Given the description of an element on the screen output the (x, y) to click on. 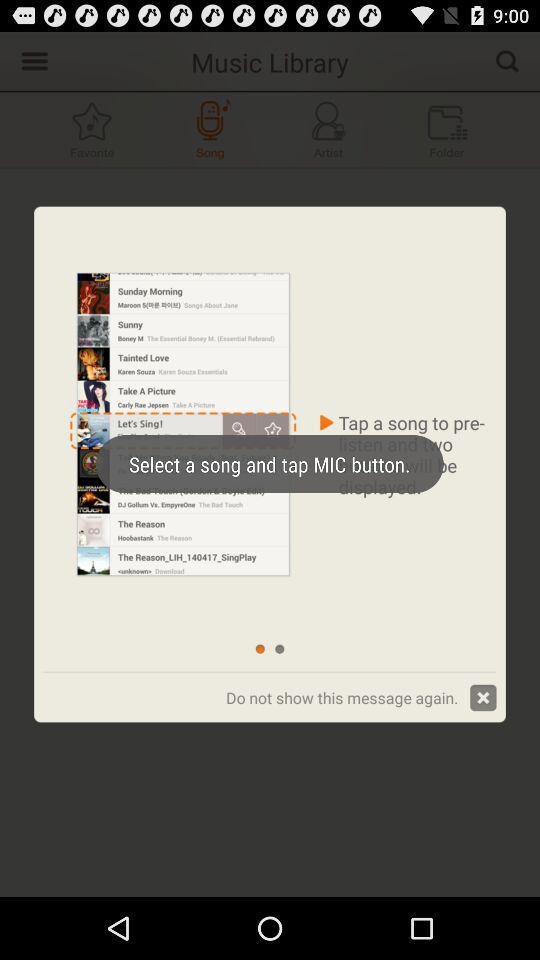
menu option (32, 60)
